Given the description of an element on the screen output the (x, y) to click on. 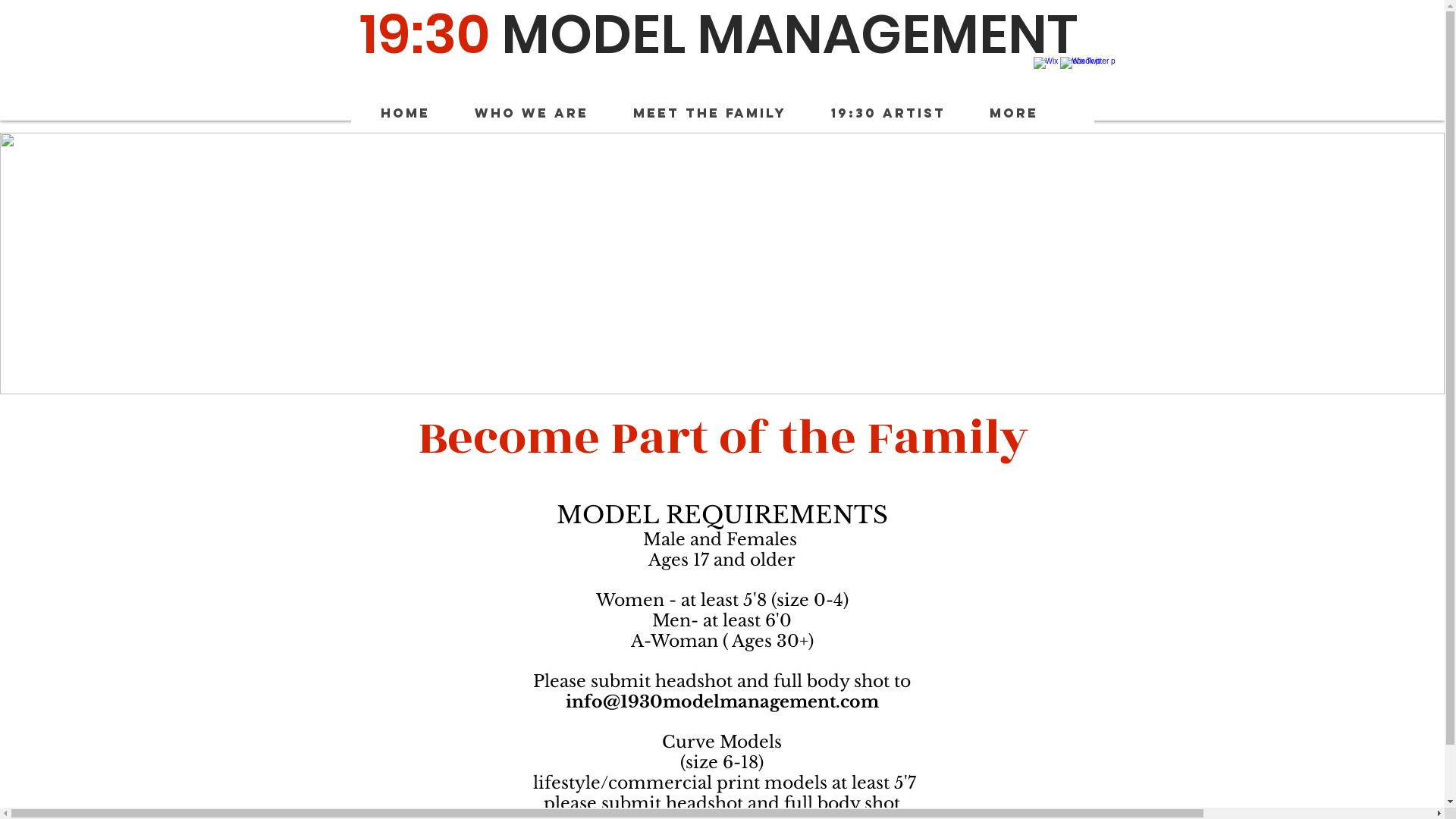
Who we are Element type: text (541, 112)
Home Element type: text (414, 112)
Meet The Family Element type: text (719, 112)
info@1930modelmanagement.com Element type: text (721, 701)
